Given the description of an element on the screen output the (x, y) to click on. 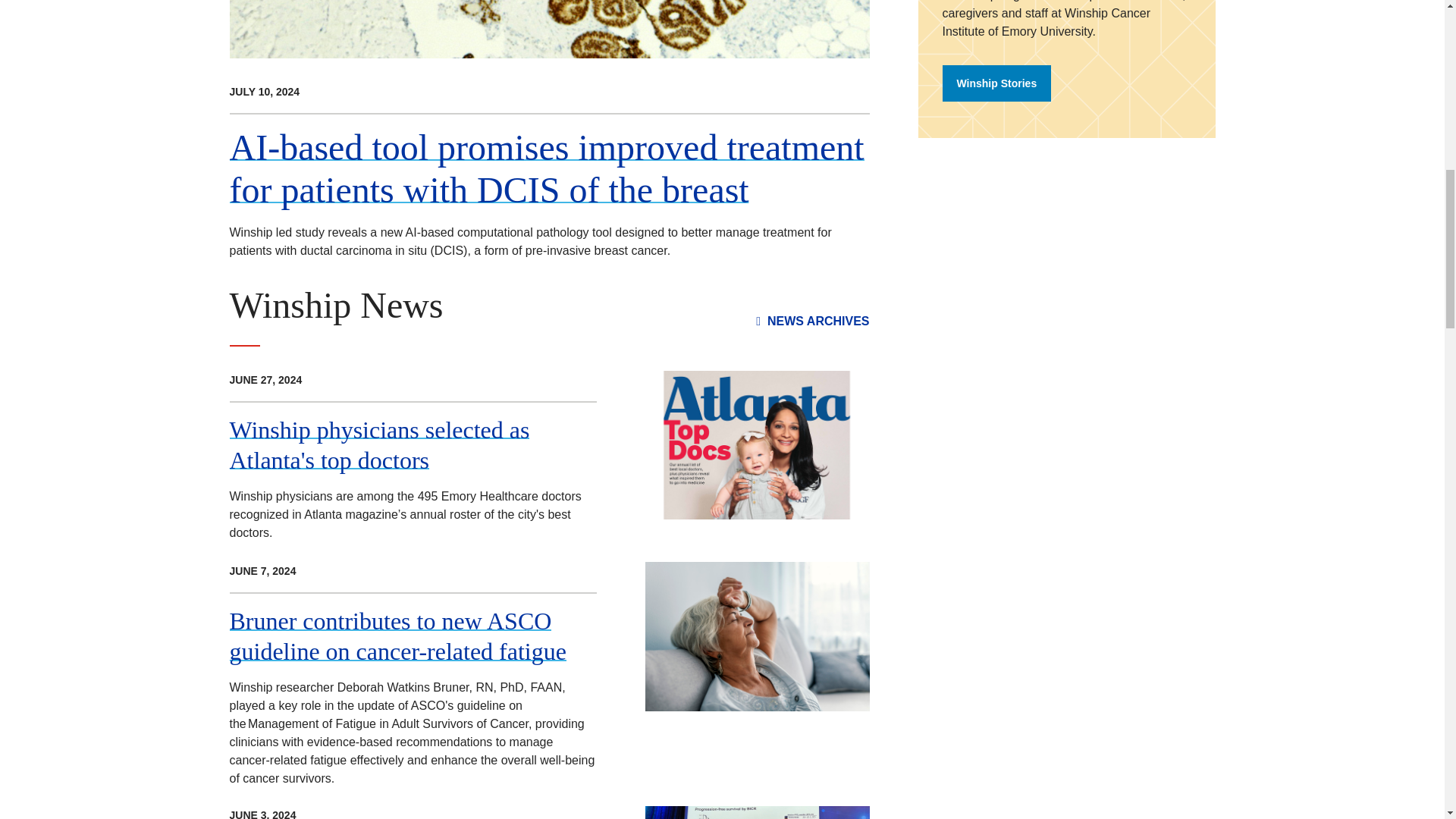
Winship physicians selected as Atlanta's top doctors (378, 445)
NEWS ARCHIVES (812, 321)
